Given the description of an element on the screen output the (x, y) to click on. 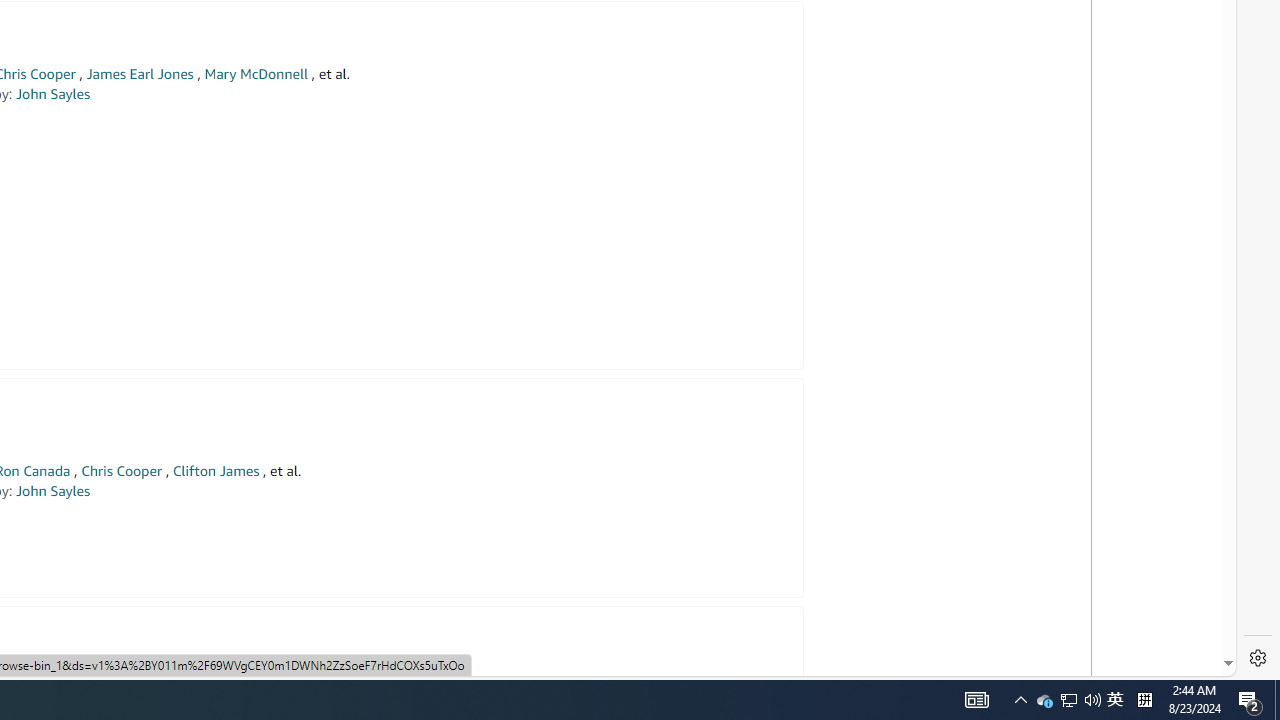
Chris Cooper (121, 471)
Mary McDonnell (255, 74)
John Sayles (52, 491)
James Earl Jones (139, 74)
Clifton James (215, 471)
